Given the description of an element on the screen output the (x, y) to click on. 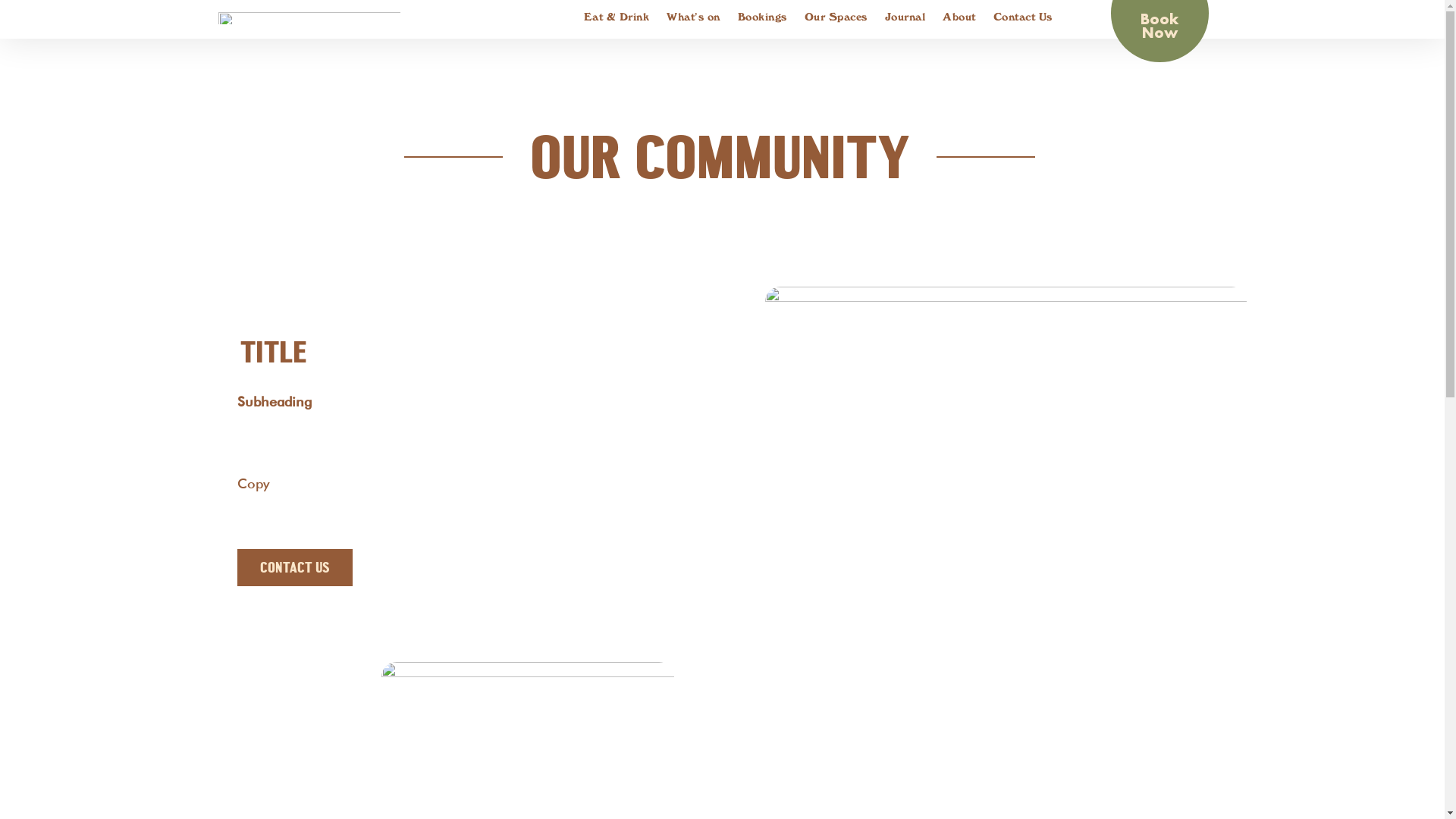
Bookings Element type: text (761, 17)
Contact Us Element type: text (1022, 17)
CONTACT US Element type: text (293, 567)
Journal Element type: text (904, 17)
Eat & Drink Element type: text (616, 17)
Our Spaces Element type: text (834, 17)
About Element type: text (959, 17)
